Given the description of an element on the screen output the (x, y) to click on. 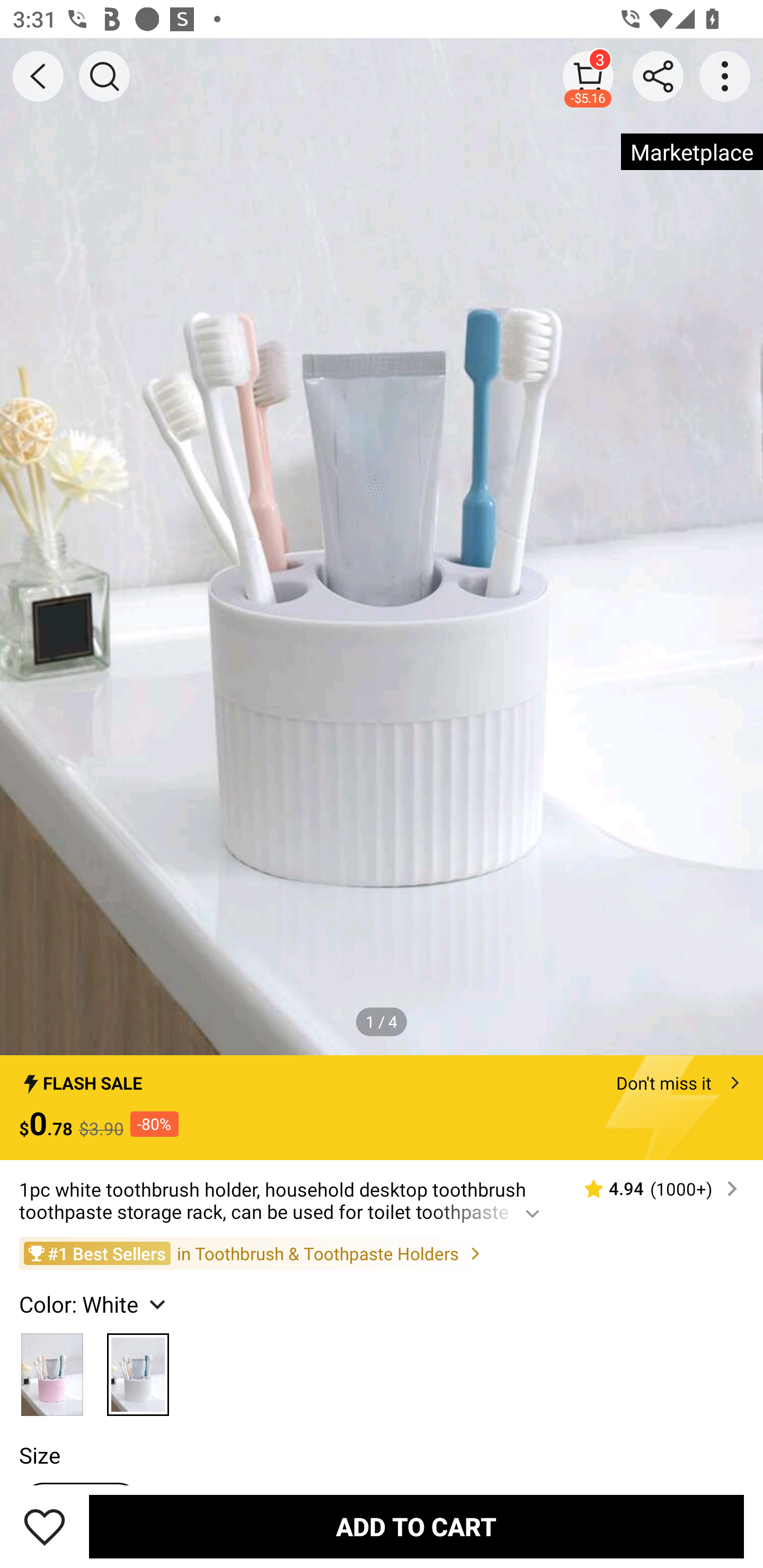
BACK (38, 75)
3 -$5.16 (588, 75)
1 / 4 (381, 1021)
FLASH SALE Don't miss it $0.78 $3.90 -80% (381, 1107)
FLASH SALE Don't miss it (381, 1077)
4.94 (1000‎+) (653, 1188)
#1 Best Sellers in Toothbrush & Toothpaste Holders (381, 1253)
Color: White (94, 1303)
Pink (52, 1369)
White (138, 1369)
Size (39, 1454)
ADD TO CART (416, 1526)
Save (44, 1526)
